Given the description of an element on the screen output the (x, y) to click on. 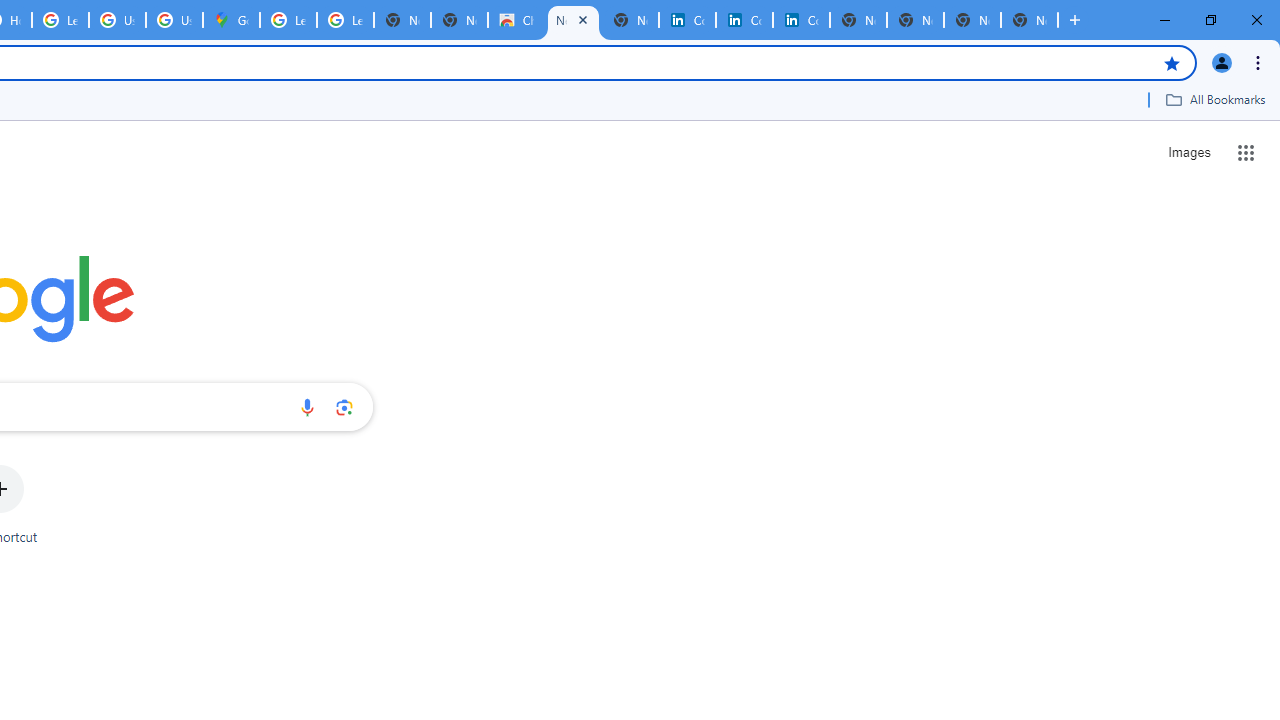
Search by voice (307, 407)
All Bookmarks (1215, 99)
Chrome Web Store (516, 20)
Cookie Policy | LinkedIn (687, 20)
